Given the description of an element on the screen output the (x, y) to click on. 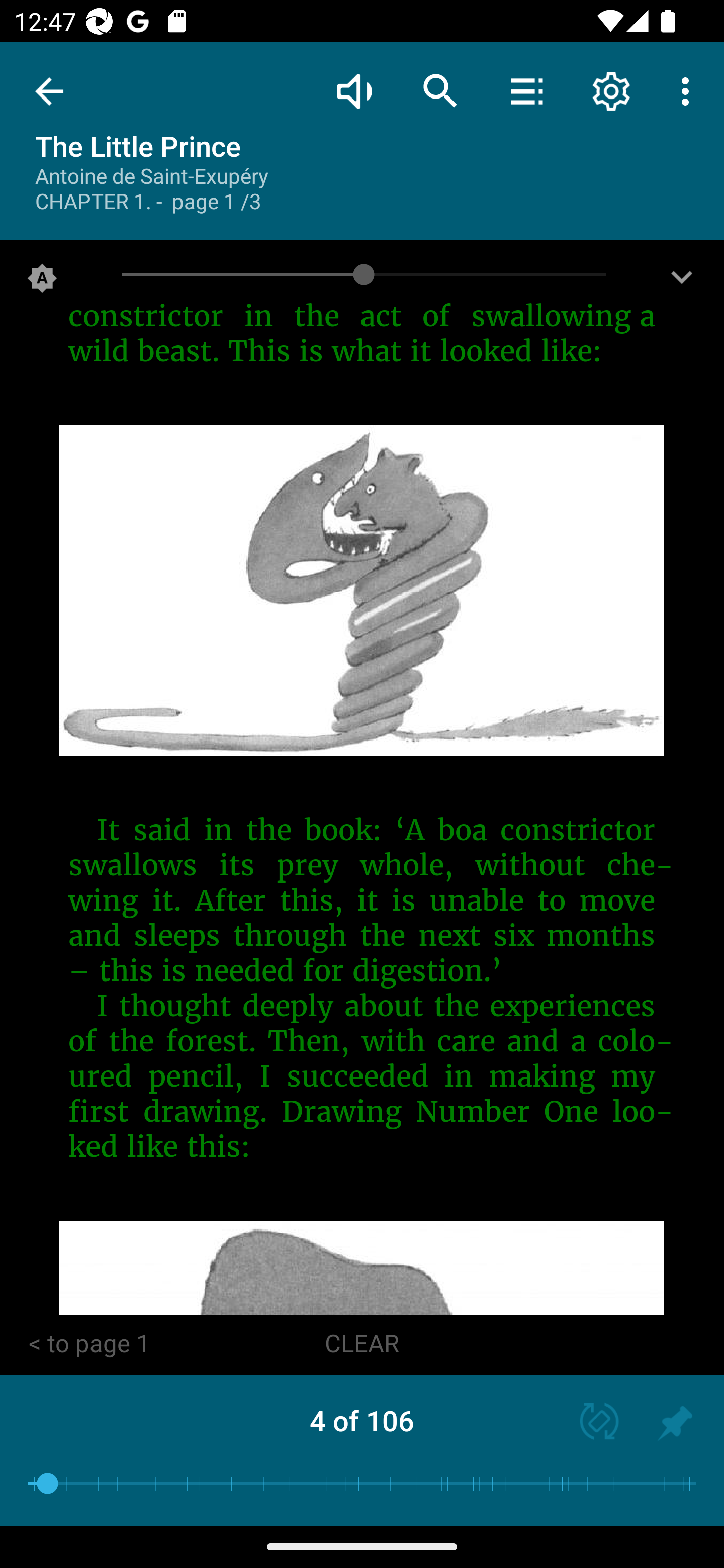
Exit reading (49, 91)
Read aloud (354, 90)
Text search (440, 90)
Contents / Bookmarks / Quotes (526, 90)
Reading settings (611, 90)
More options (688, 90)
Selected screen brightness (42, 281)
Screen brightness settings (681, 281)
< to page 1 (89, 1344)
CLEAR (361, 1344)
4 of 106 (361, 1420)
Screen orientation (590, 1423)
Add to history (674, 1423)
